Given the description of an element on the screen output the (x, y) to click on. 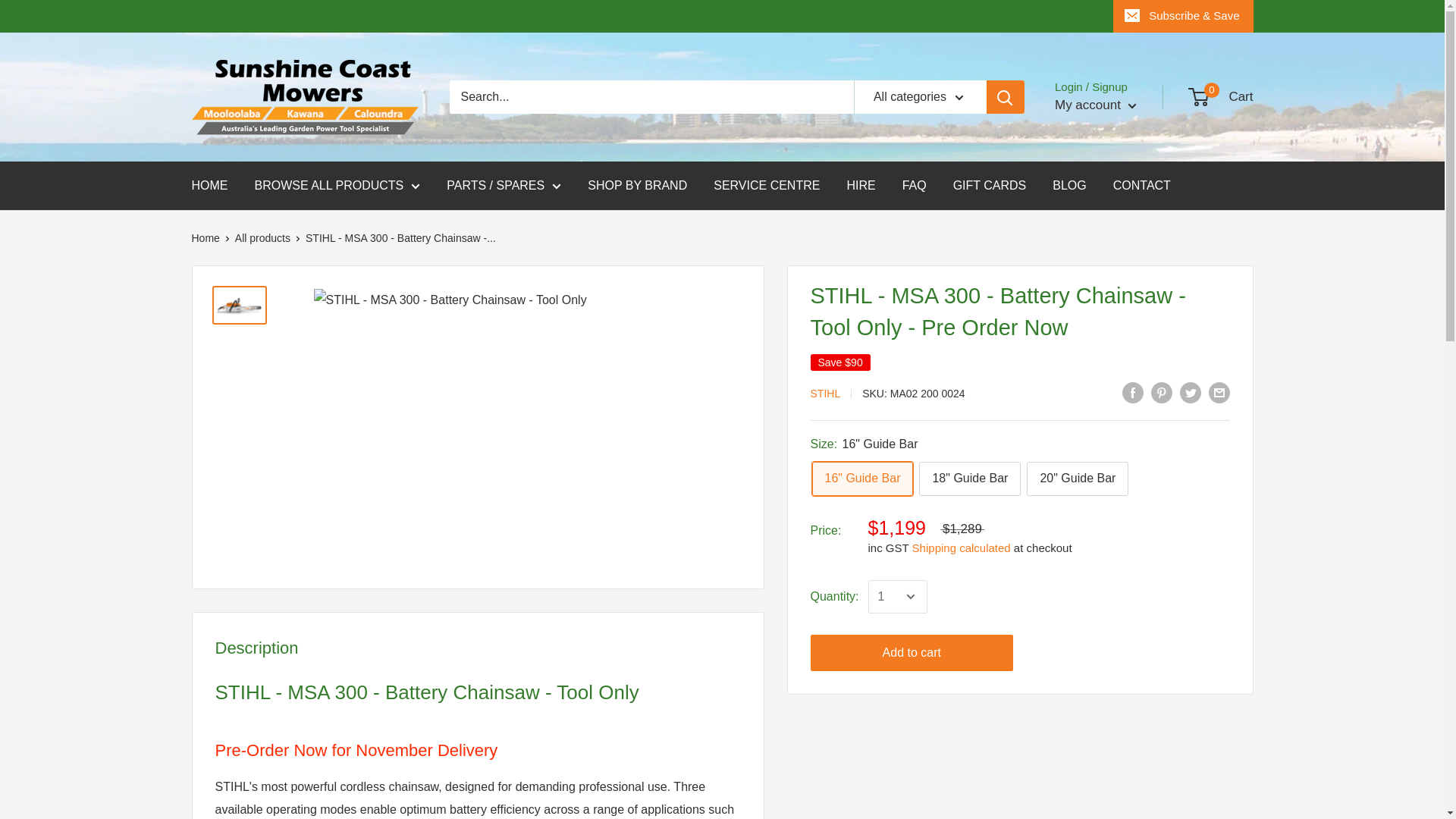
16" Guide Bar (861, 478)
18" Guide Bar (969, 478)
20" Guide Bar (1077, 478)
